Given the description of an element on the screen output the (x, y) to click on. 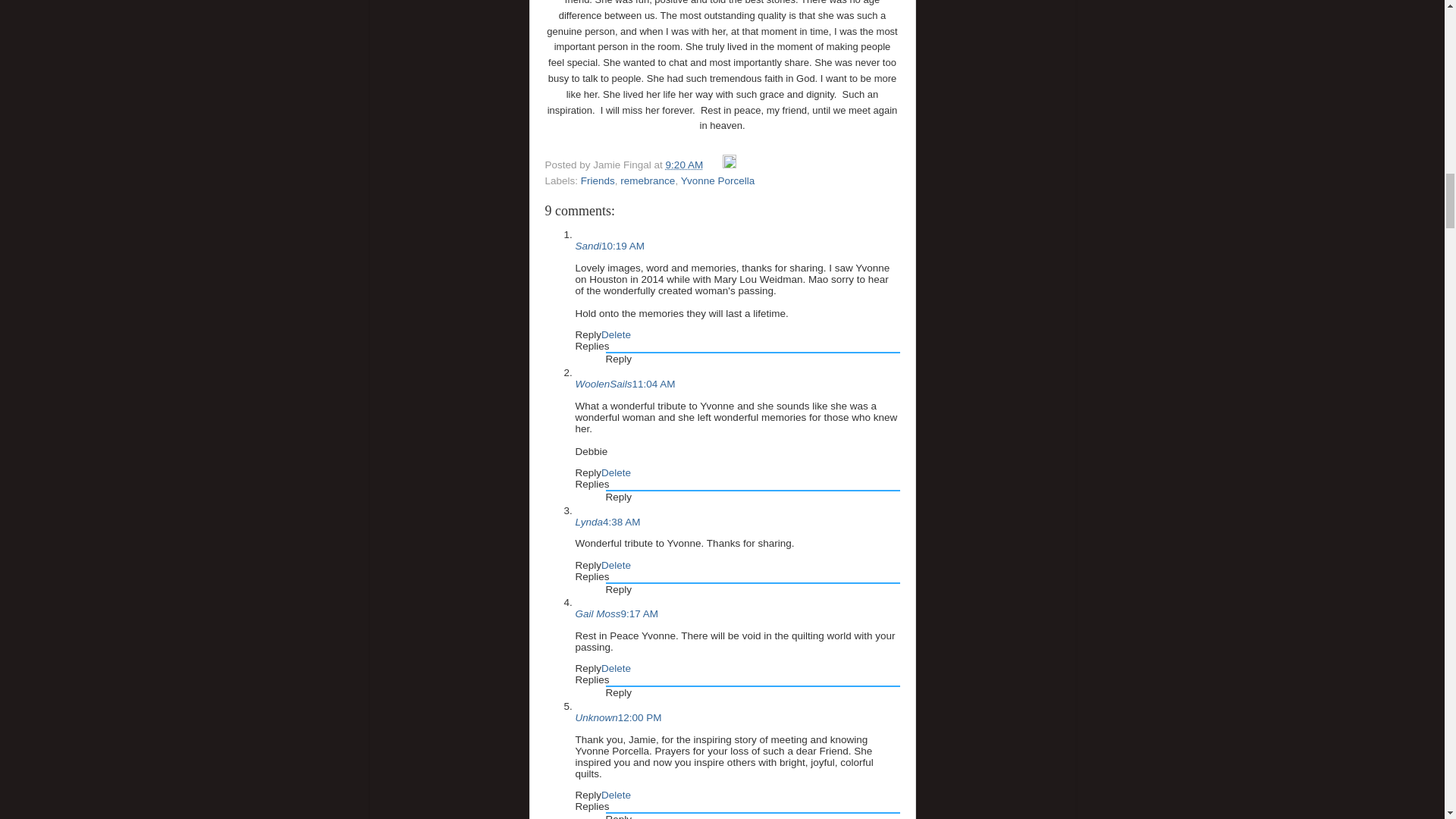
Friends (597, 180)
Reply (588, 564)
Replies (591, 483)
WoolenSails (603, 383)
Replies (591, 346)
Edit Post (729, 164)
permanent link (684, 164)
Yvonne Porcella (718, 180)
Delete (615, 564)
9:20 AM (684, 164)
Reply (588, 472)
Replies (591, 576)
Email Post (714, 164)
Delete (615, 472)
Delete (615, 334)
